Given the description of an element on the screen output the (x, y) to click on. 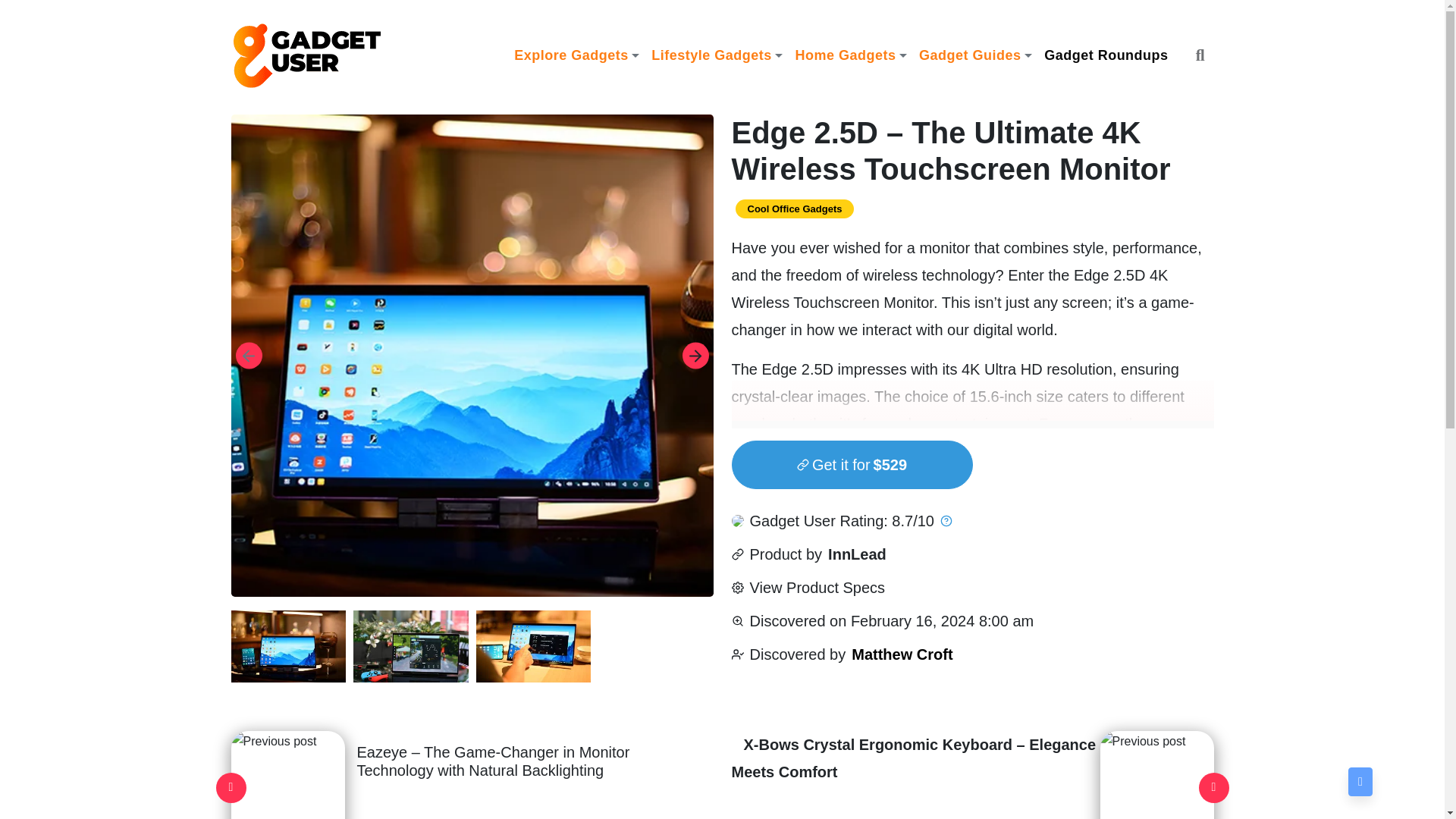
Home Gadgets (850, 55)
Posts by Matthew Croft (901, 654)
Lifestyle Gadgets (717, 55)
Gadget Guides (975, 55)
Explore Gadgets (576, 55)
